Given the description of an element on the screen output the (x, y) to click on. 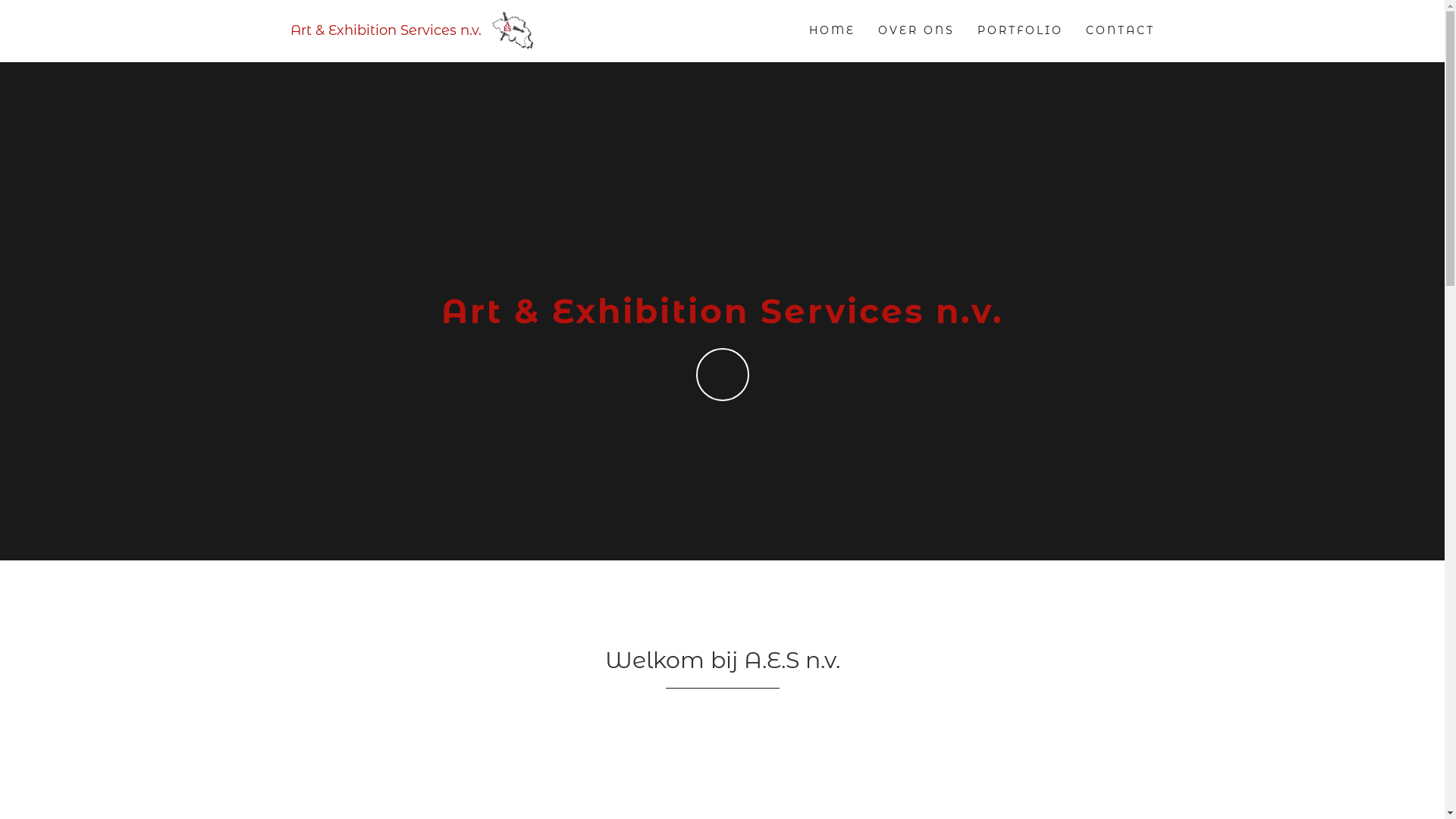
CONTACT Element type: text (1119, 30)
HOME Element type: text (831, 30)
Art & Exhibition Services n.v. Element type: text (417, 30)
OVER ONS Element type: text (915, 30)
PORTFOLIO Element type: text (1020, 30)
